Given the description of an element on the screen output the (x, y) to click on. 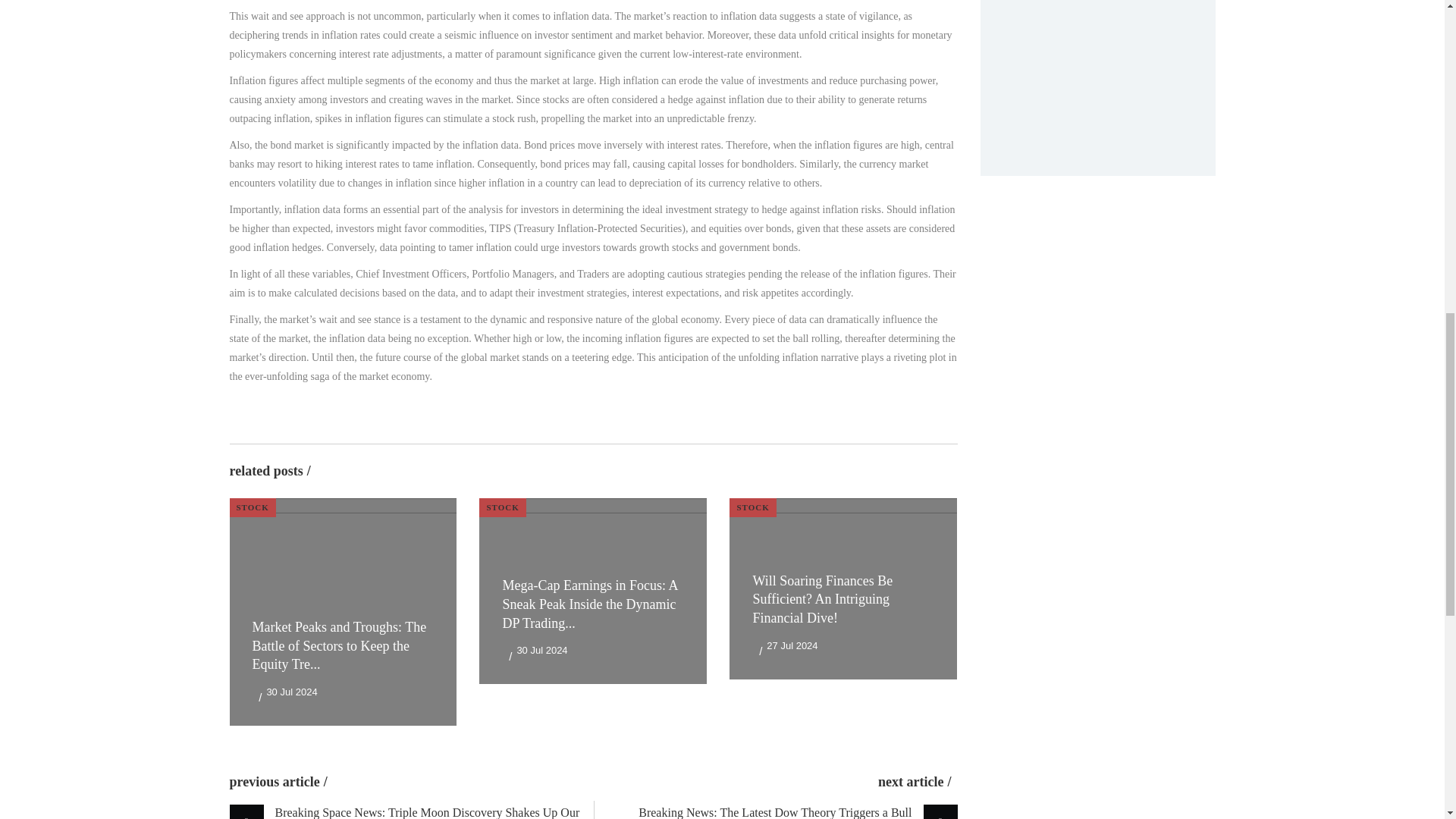
STOCK (251, 506)
